Given the description of an element on the screen output the (x, y) to click on. 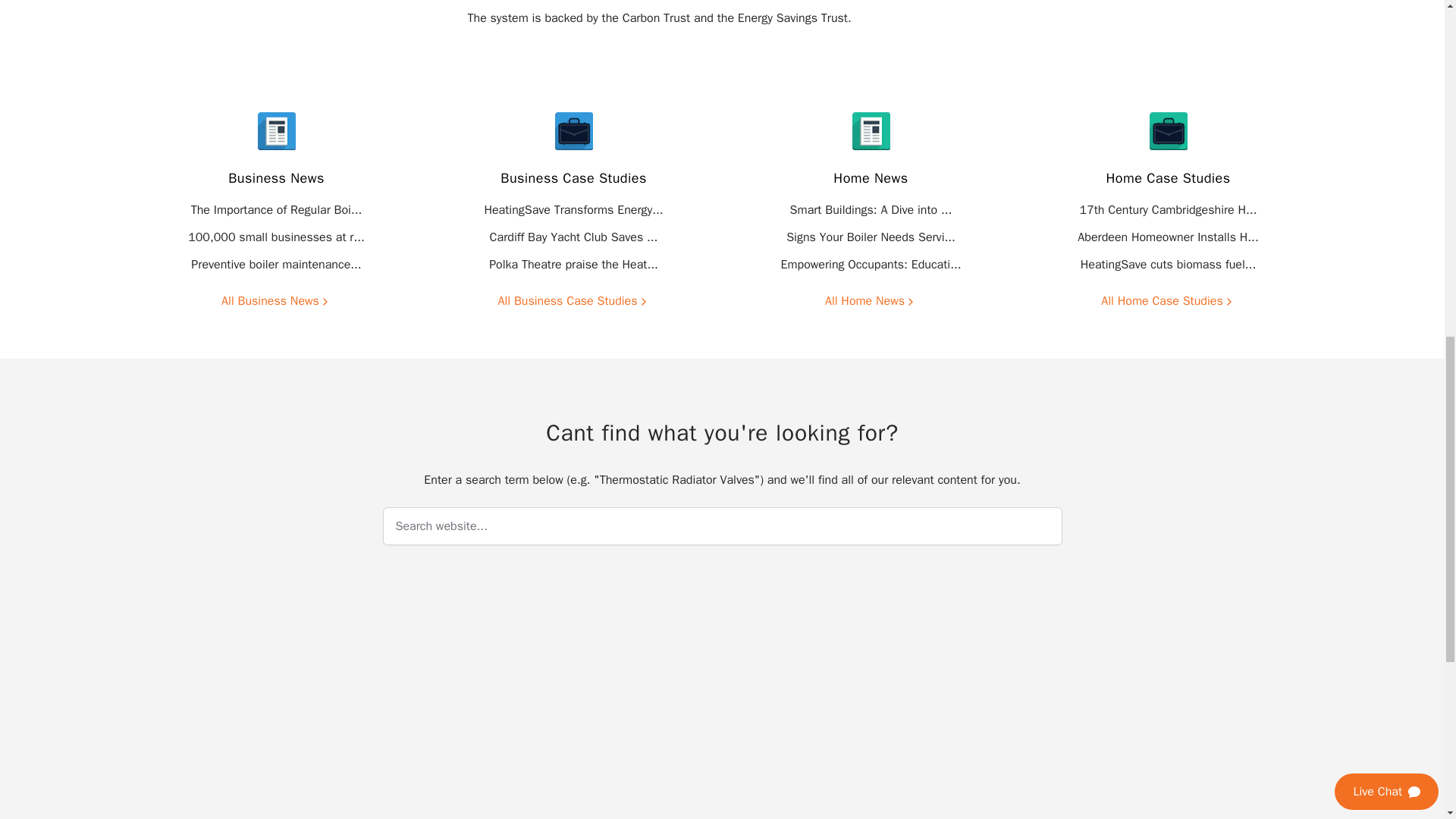
The Importance of Regular Boiler Service: Why It Matters (276, 209)
Polka Theatre praise the HeatingSave system  (573, 264)
100,000 small businesses at risk as energy bills rise (276, 237)
